Given the description of an element on the screen output the (x, y) to click on. 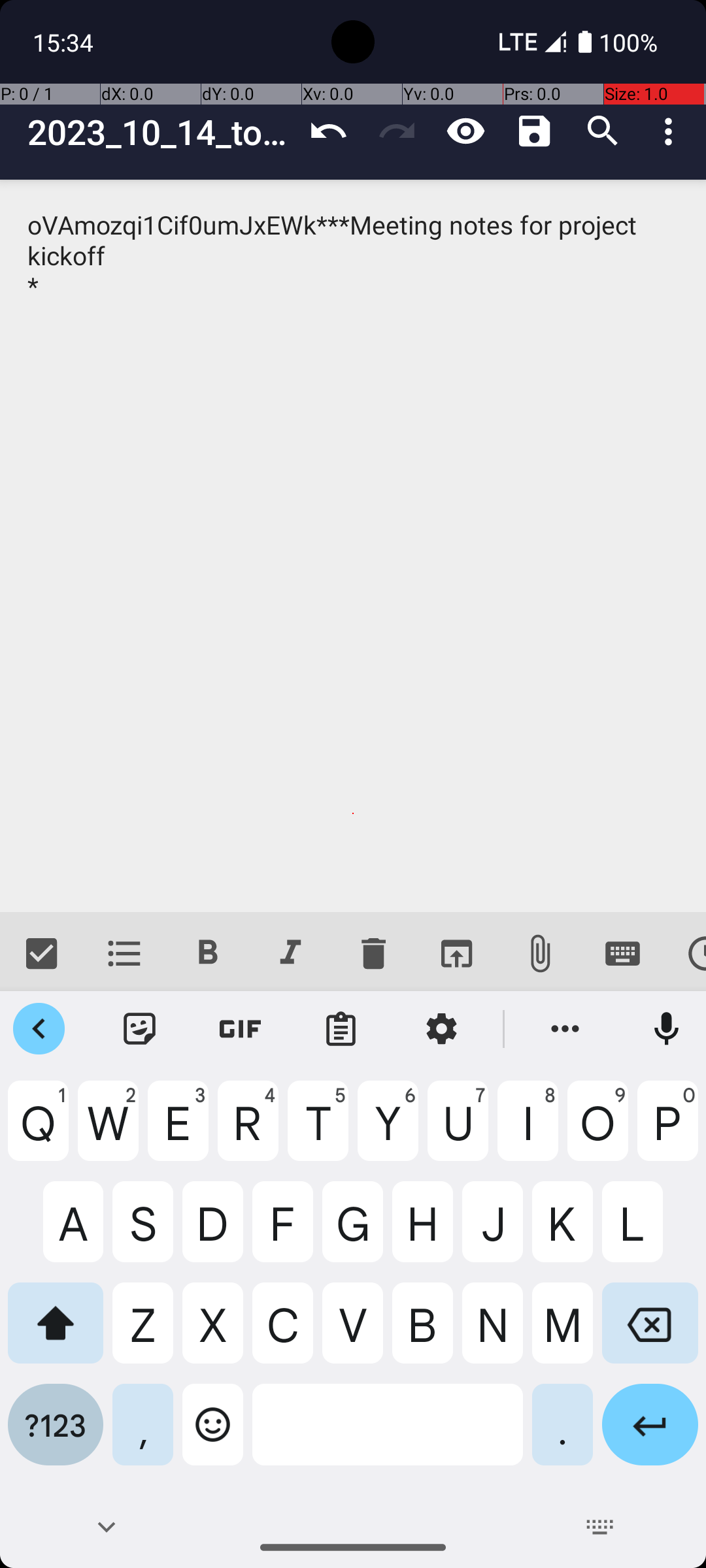
2023_10_14_tough_mouse_2023_04_01 Element type: android.widget.TextView (160, 131)
oVAmozqi1Cif0umJxEWk***Meeting notes for project kickoff
* Element type: android.widget.EditText (353, 545)
